Given the description of an element on the screen output the (x, y) to click on. 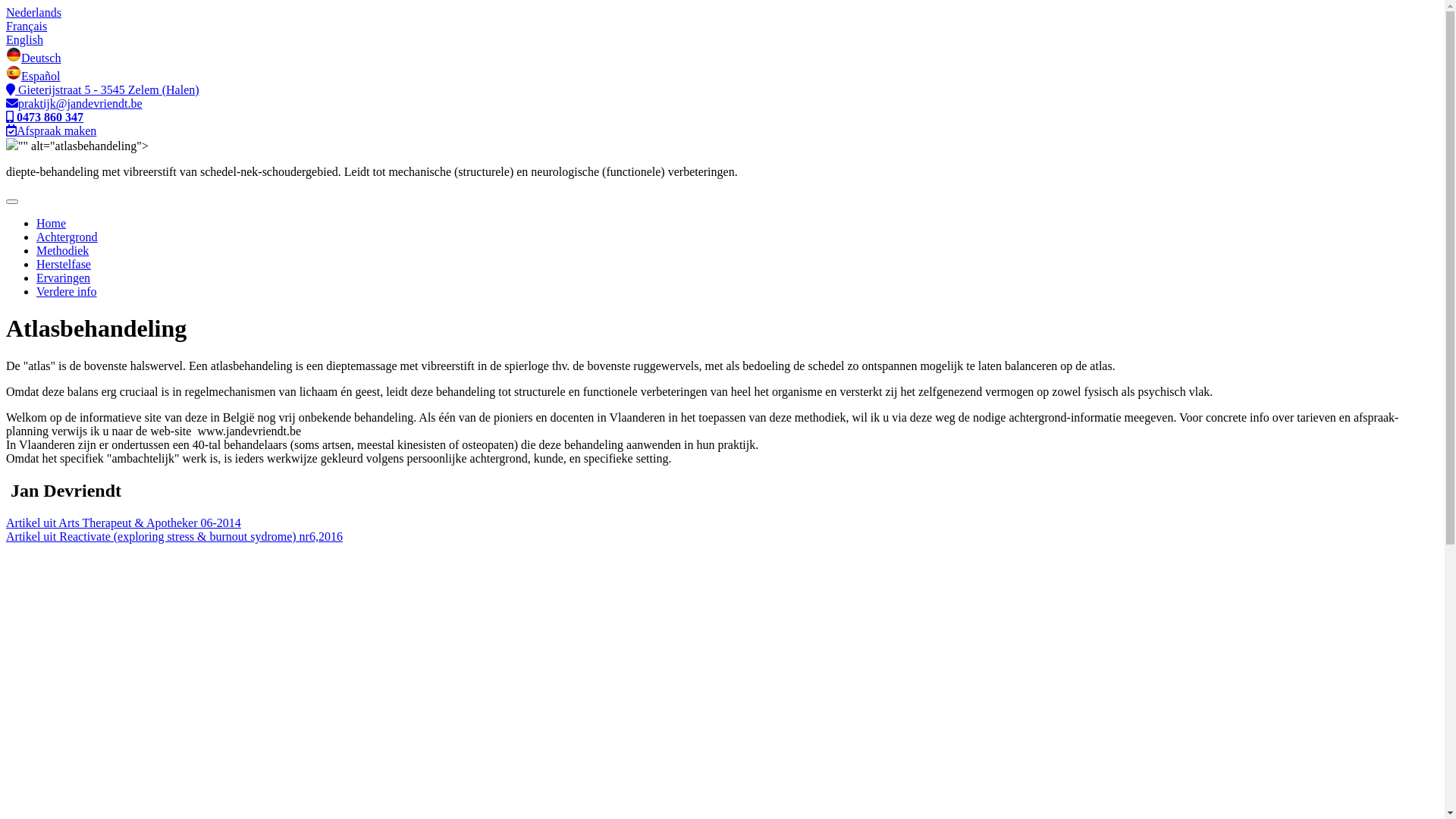
Methodiek Element type: text (62, 250)
praktijk@jandevriendt.be Element type: text (74, 103)
Deutsch Element type: text (33, 57)
Nederlands Element type: text (33, 12)
Artikel uit Arts Therapeut & Apotheker 06-2014 Element type: text (123, 522)
Home Element type: text (50, 222)
Herstelfase Element type: text (63, 263)
Verdere info Element type: text (66, 291)
English Element type: text (24, 39)
Ervaringen Element type: text (63, 277)
Gieterijstraat 5 - 3545 Zelem (Halen) Element type: text (102, 89)
Achtergrond Element type: text (66, 236)
Afspraak maken Element type: text (51, 130)
0473 860 347 Element type: text (44, 116)
Toggle navigation Element type: text (12, 201)
